Given the description of an element on the screen output the (x, y) to click on. 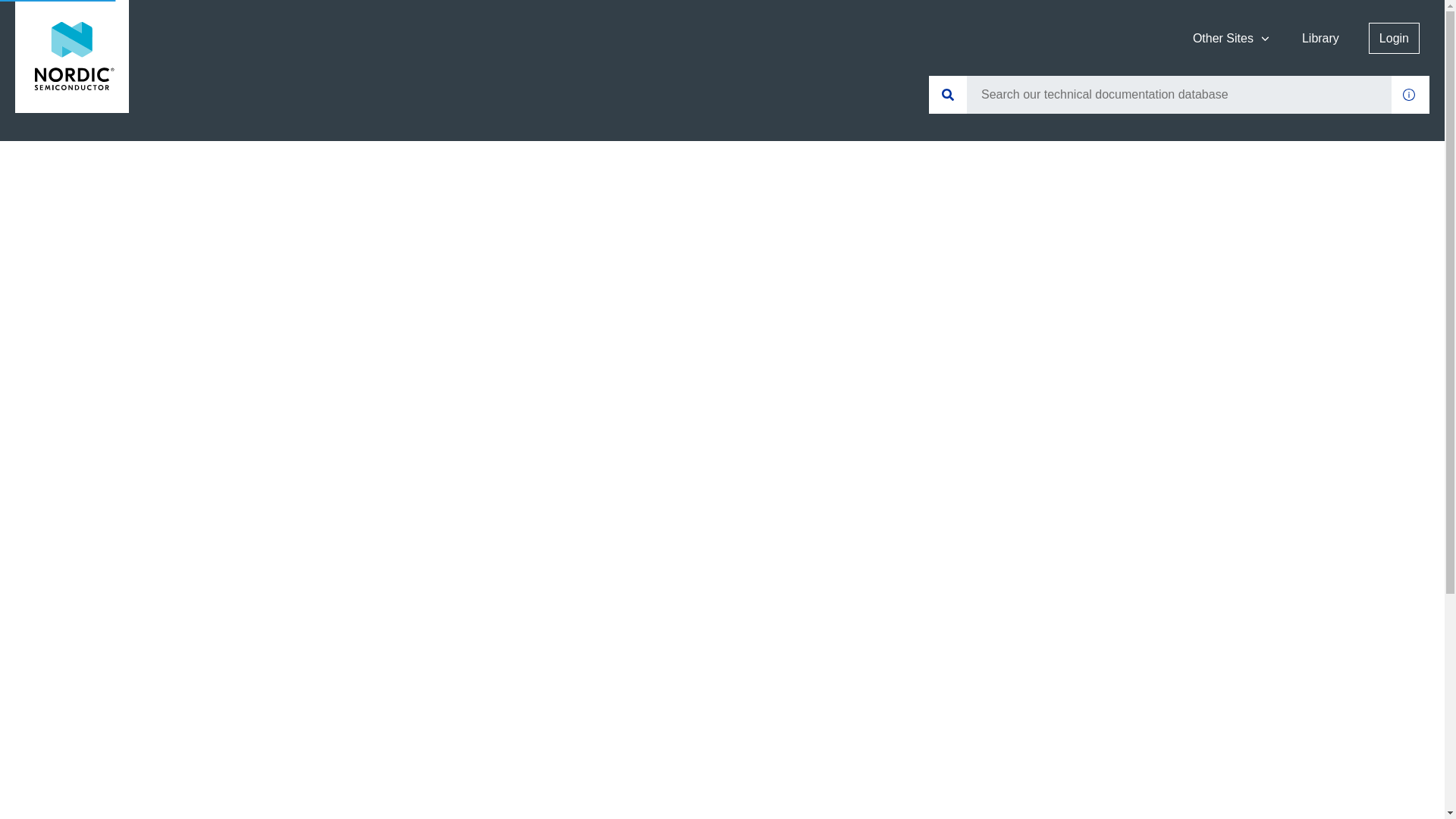
Login (1393, 38)
Library (1320, 37)
Other Sites (1231, 37)
